Given the description of an element on the screen output the (x, y) to click on. 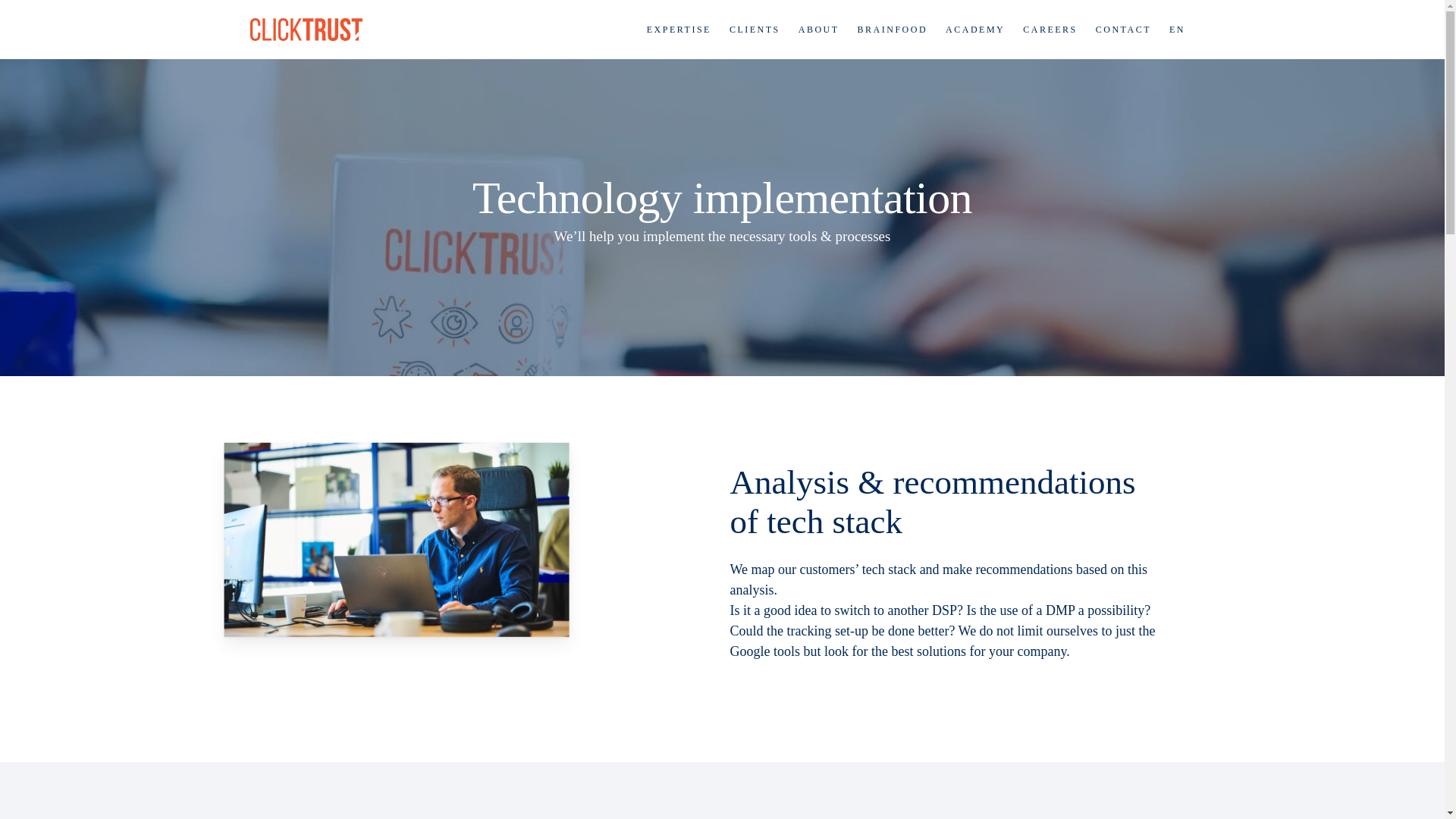
EXPERTISE (678, 29)
ABOUT (818, 29)
ACADEMY (974, 29)
CLIENTS (754, 29)
EN (1176, 29)
CAREERS (1049, 29)
en (1176, 29)
BRAINFOOD (892, 29)
CONTACT (1123, 29)
